Given the description of an element on the screen output the (x, y) to click on. 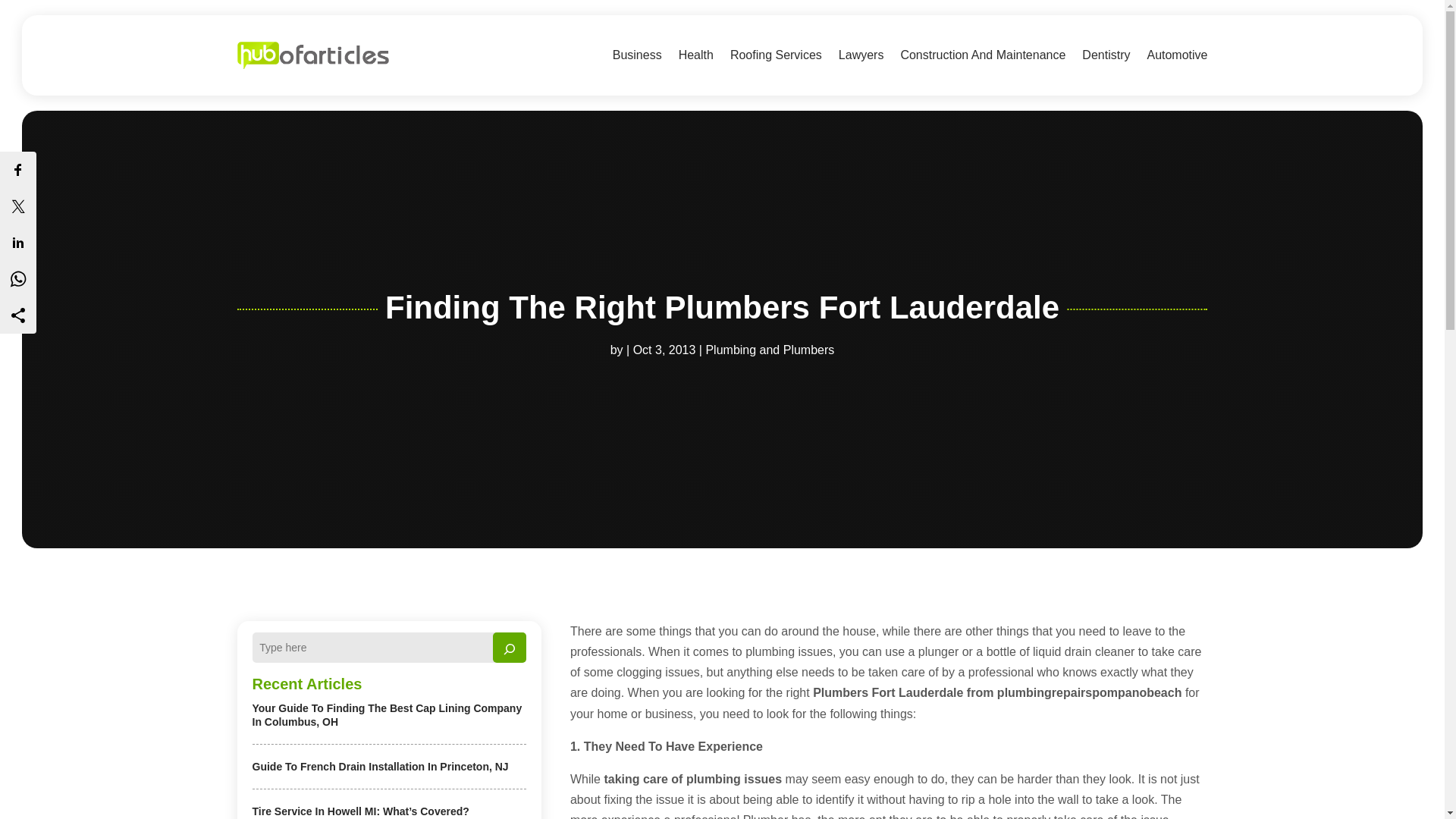
Roofing Services (776, 55)
Automotive (1177, 55)
Plumbing and Plumbers (769, 349)
Guide To French Drain Installation In Princeton, NJ (379, 766)
Construction And Maintenance (982, 55)
